Given the description of an element on the screen output the (x, y) to click on. 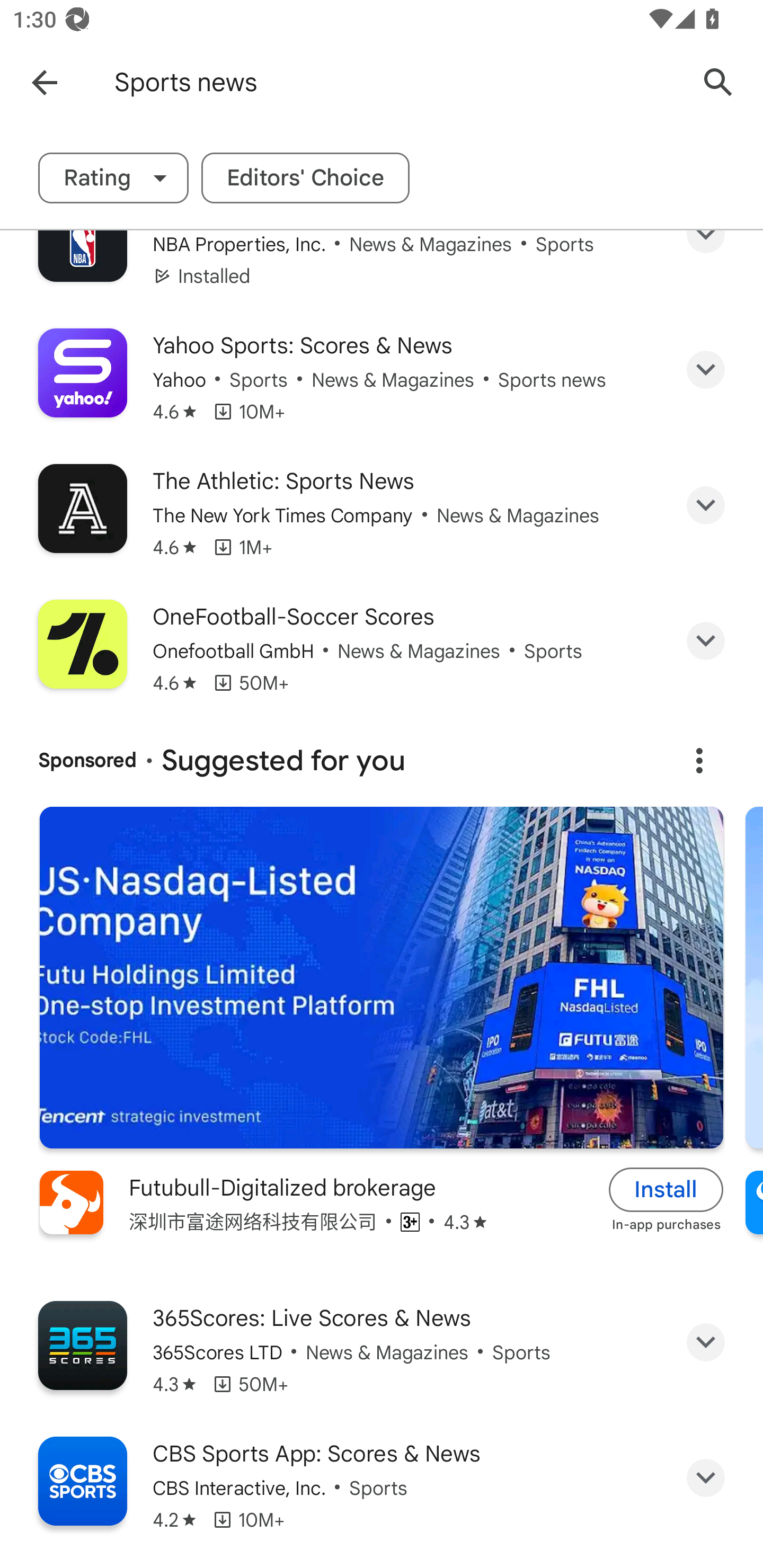
Sports news (397, 82)
Navigate up (44, 81)
Search Google Play (718, 81)
Rating - double tap to change the filter (113, 177)
Editors' Choice - double tap to toggle the filter (305, 177)
Expand content for Yahoo Sports: Scores & News (705, 368)
Expand content for The Athletic: Sports News (705, 505)
Expand content for OneFootball-Soccer Scores (705, 640)
About this ad (699, 760)
Install (665, 1188)
Expand content for 365Scores: Live Scores & News (705, 1341)
Expand content for CBS Sports App: Scores & News (705, 1477)
